Given the description of an element on the screen output the (x, y) to click on. 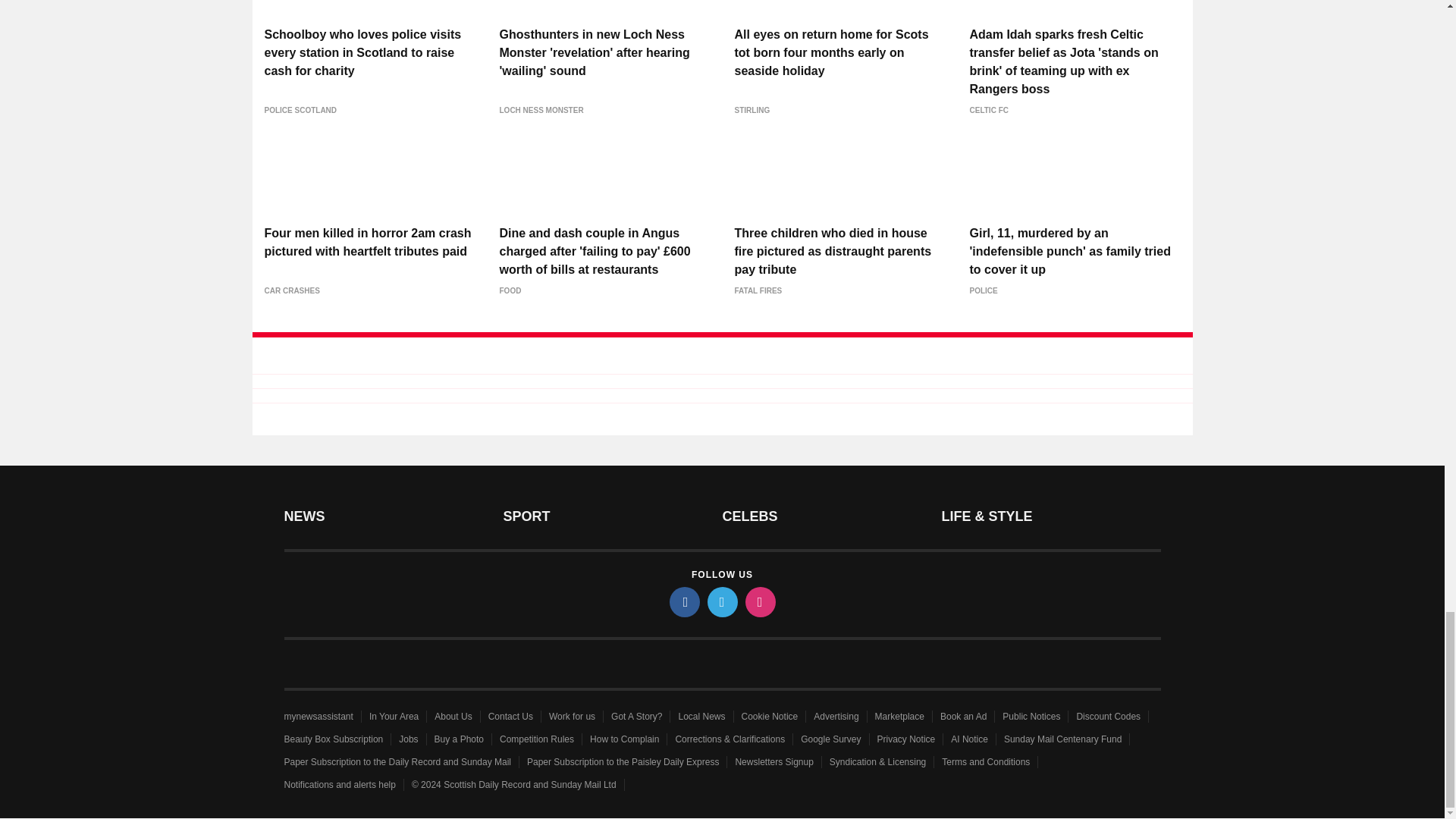
twitter (721, 602)
instagram (759, 602)
facebook (683, 602)
